Given the description of an element on the screen output the (x, y) to click on. 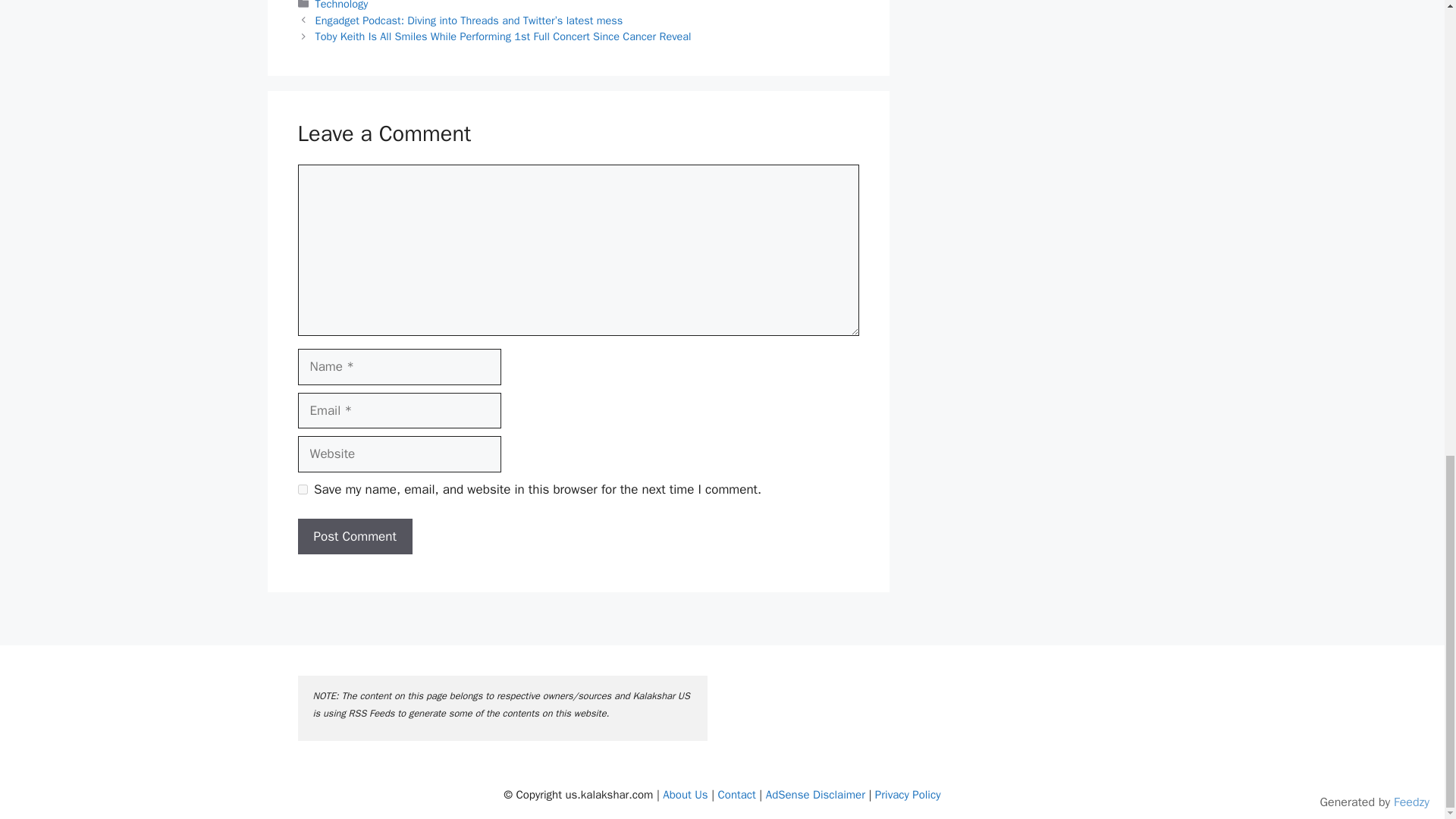
Scroll back to top (1406, 503)
Post Comment (354, 536)
Technology (341, 5)
Post Comment (354, 536)
yes (302, 489)
